Given the description of an element on the screen output the (x, y) to click on. 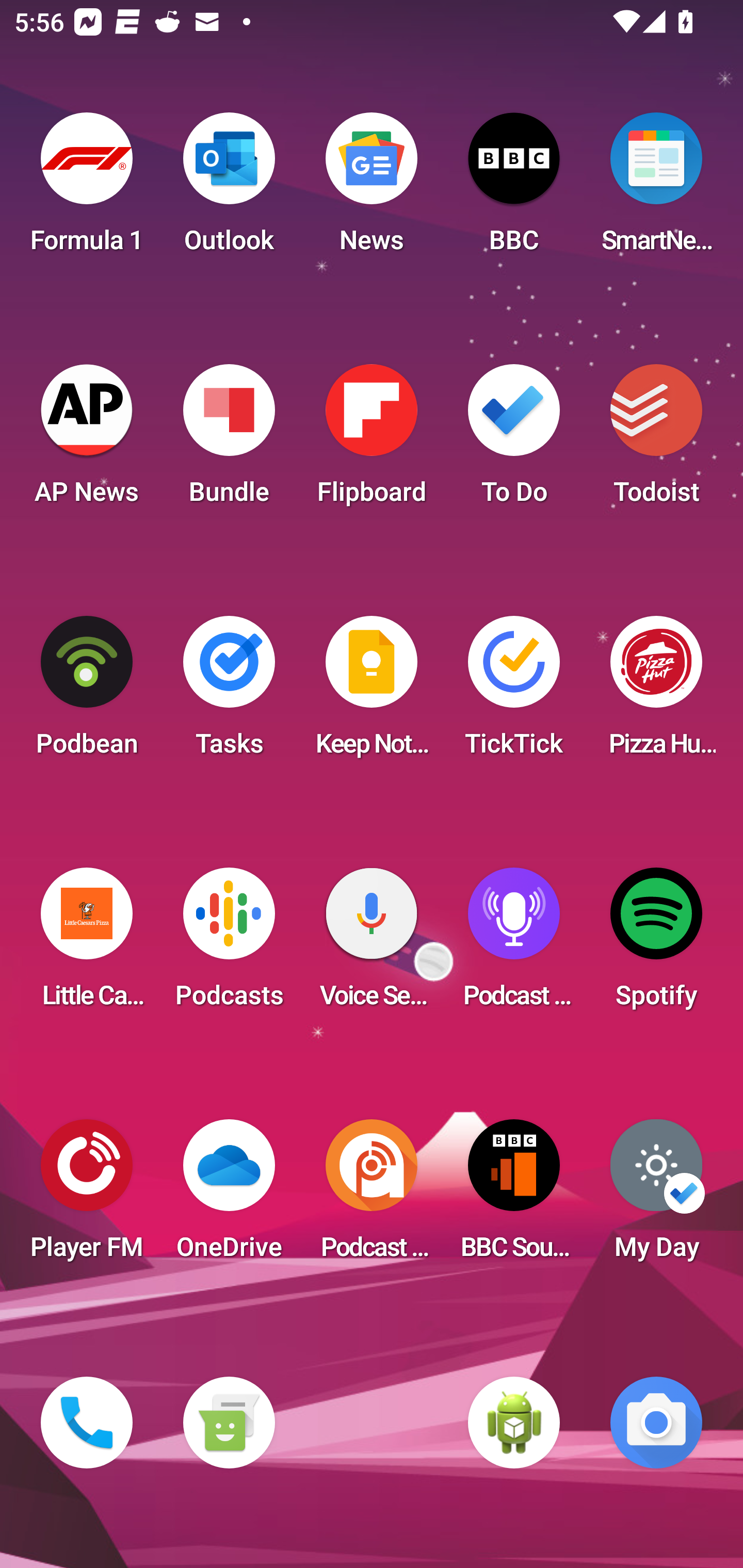
Formula 1 (86, 188)
Outlook (228, 188)
News (371, 188)
BBC (513, 188)
SmartNews (656, 188)
AP News (86, 440)
Bundle (228, 440)
Flipboard (371, 440)
To Do (513, 440)
Todoist (656, 440)
Podbean (86, 692)
Tasks (228, 692)
Keep Notes (371, 692)
TickTick (513, 692)
Pizza Hut HK & Macau (656, 692)
Little Caesars Pizza (86, 943)
Podcasts (228, 943)
Voice Search (371, 943)
Podcast Player (513, 943)
Spotify (656, 943)
Player FM (86, 1195)
OneDrive (228, 1195)
Podcast Addict (371, 1195)
BBC Sounds (513, 1195)
My Day (656, 1195)
Phone (86, 1422)
Messaging (228, 1422)
WebView Browser Tester (513, 1422)
Camera (656, 1422)
